Given the description of an element on the screen output the (x, y) to click on. 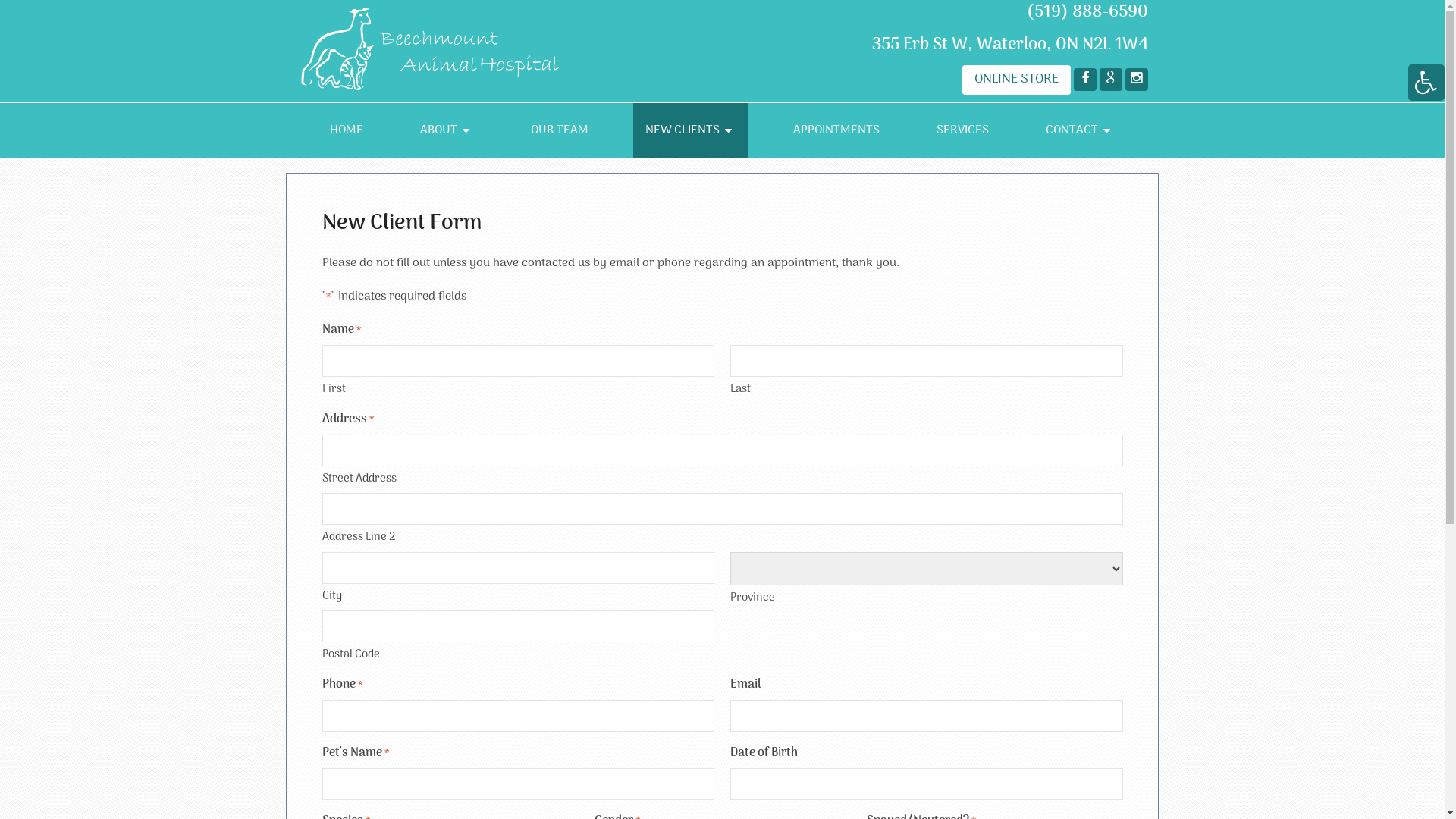
355 Erb St W, Waterloo, ON N2L 1W4 Element type: text (1010, 44)
OUR TEAM Element type: text (559, 130)
NEW CLIENTS Element type: text (690, 130)
HOME Element type: text (346, 130)
CONTACT Element type: text (1079, 130)
APPOINTMENTS Element type: text (836, 130)
Accessibility Helper sidebar Element type: hover (1426, 82)
SERVICES Element type: text (962, 130)
ABOUT Element type: text (446, 130)
ONLINE STORE Element type: text (1015, 79)
